Given the description of an element on the screen output the (x, y) to click on. 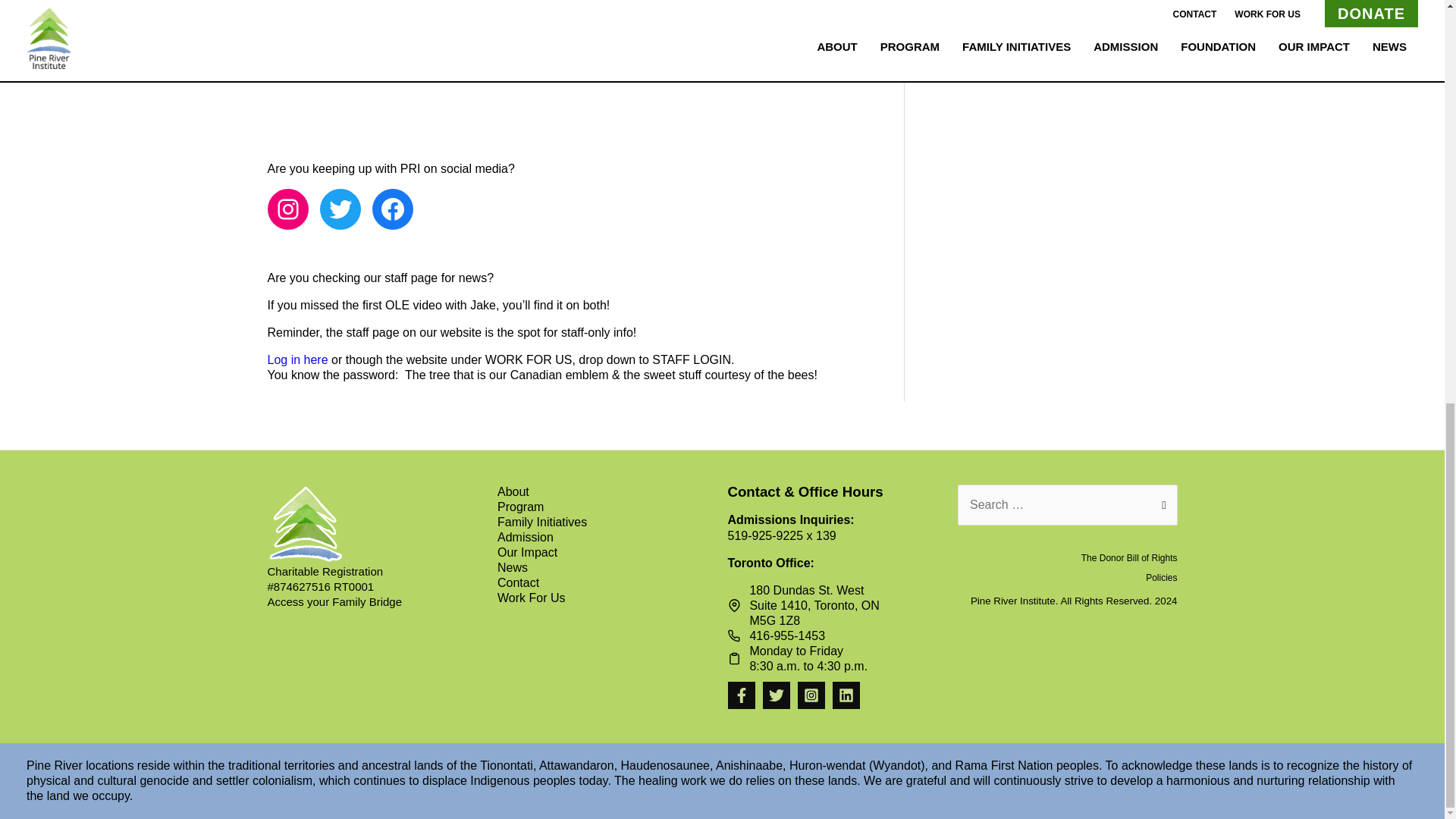
Search (1159, 501)
Search (1159, 501)
OLE Winter - Martha (561, 80)
